Given the description of an element on the screen output the (x, y) to click on. 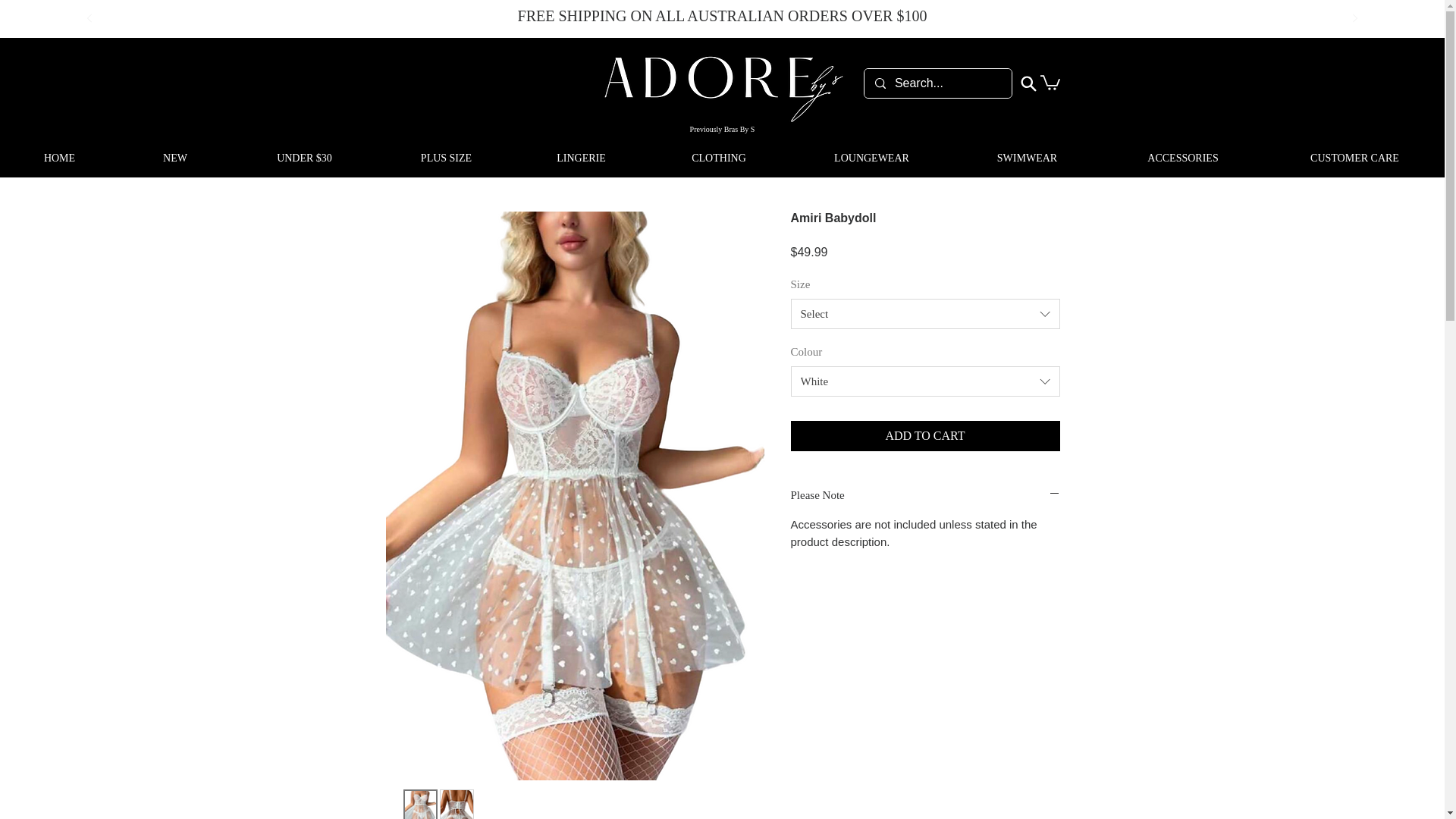
SWIMWEAR (1026, 157)
NEW (175, 157)
HOME (59, 157)
LOUNGEWEAR (871, 157)
